Given the description of an element on the screen output the (x, y) to click on. 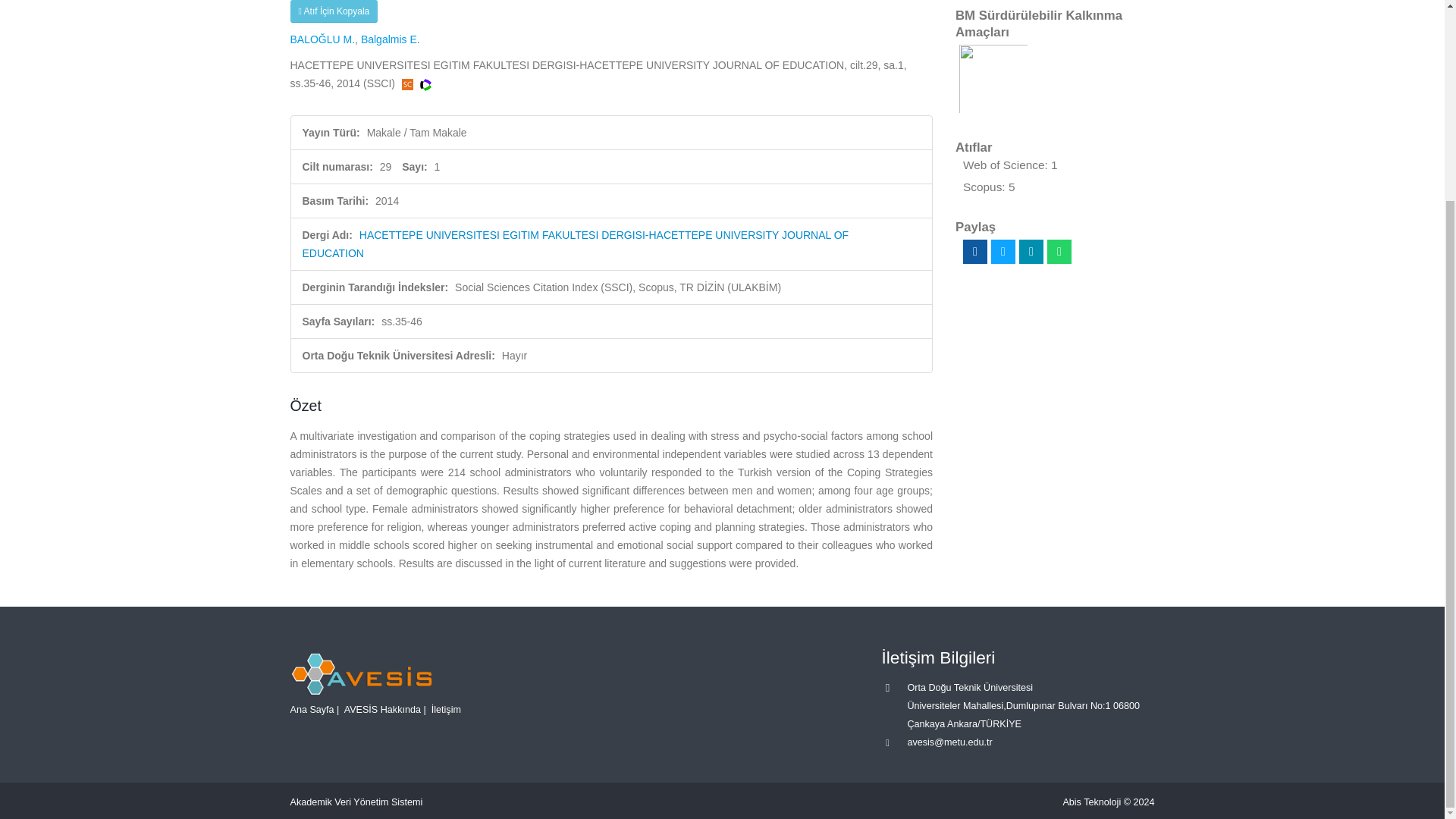
Ana Sayfa (311, 708)
Abis Teknoloji (1091, 801)
Balgalmis E. (390, 39)
